Given the description of an element on the screen output the (x, y) to click on. 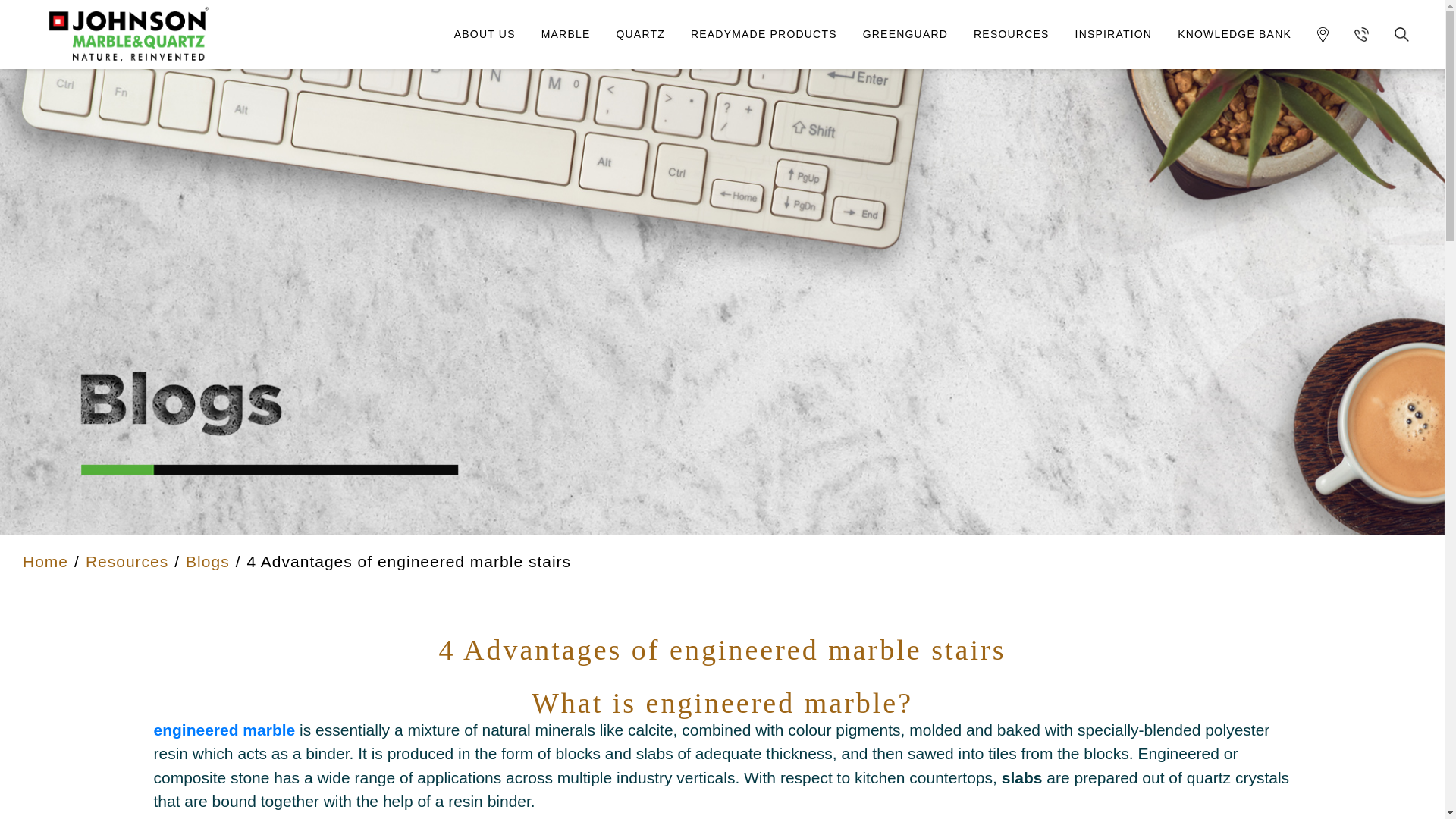
Blogs (208, 561)
INSPIRATION (1114, 34)
READYMADE PRODUCTS (764, 34)
GREENGUARD (905, 34)
RESOURCES (1010, 34)
ABOUT US (484, 34)
Resources (126, 561)
QUARTZ (640, 34)
Home (45, 561)
KNOWLEDGE BANK (1234, 34)
